Given the description of an element on the screen output the (x, y) to click on. 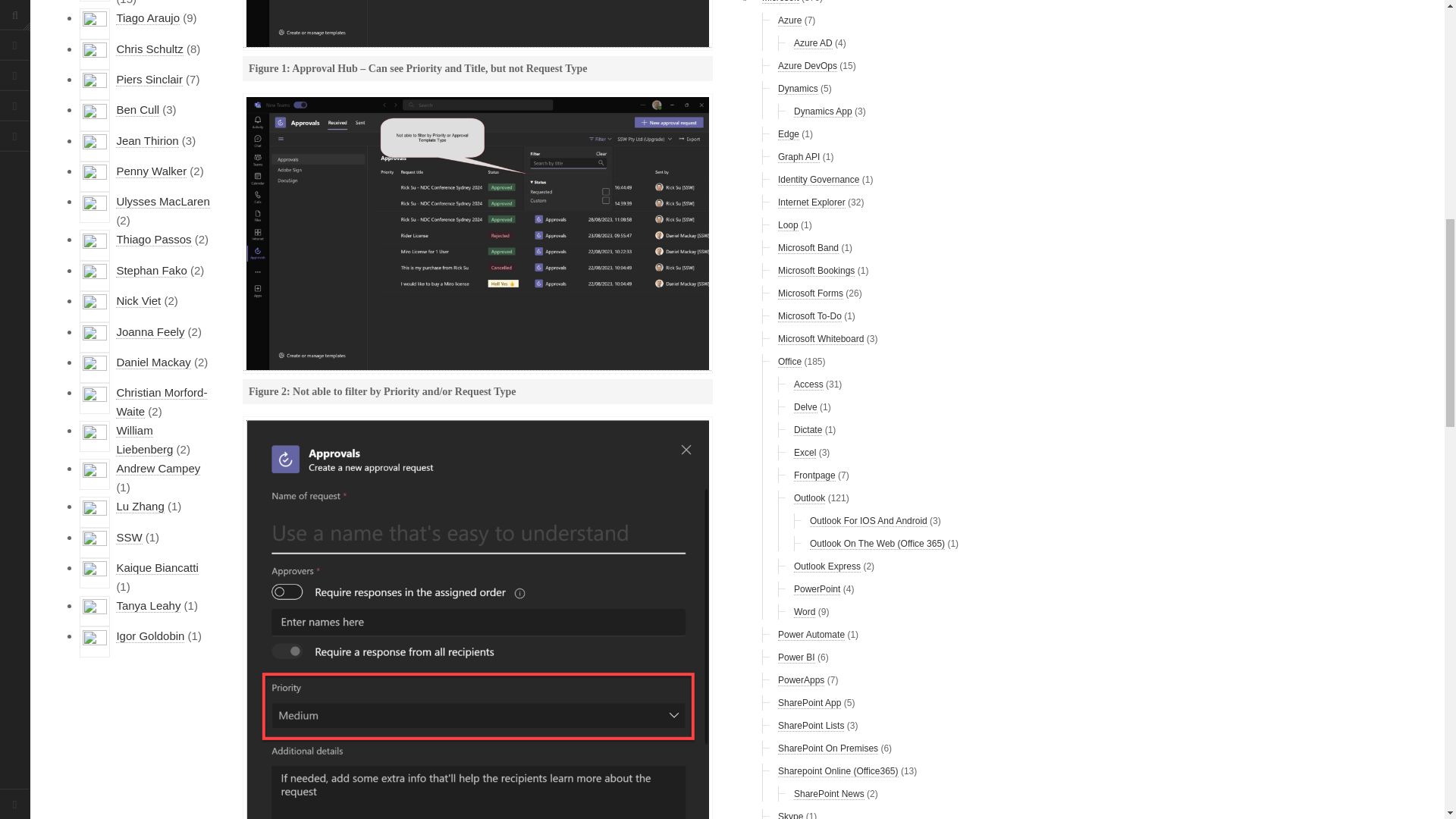
Posts by Chris Schultz (149, 49)
William Liebenberg (144, 440)
Ben Cull (137, 110)
Jean Thirion (146, 141)
Posts by Penny Walker (151, 171)
Posts by Tiago Araujo (147, 18)
Posts by Piers Sinclair (149, 79)
Posts by Daniel Mackay (153, 362)
Posts by Joanna Feely (150, 332)
SSW (128, 537)
Ulysses MacLaren (162, 201)
Daniel Mackay (153, 362)
Penny Walker (151, 171)
Nick Viet (138, 300)
Posts by Jean Thirion (146, 141)
